Given the description of an element on the screen output the (x, y) to click on. 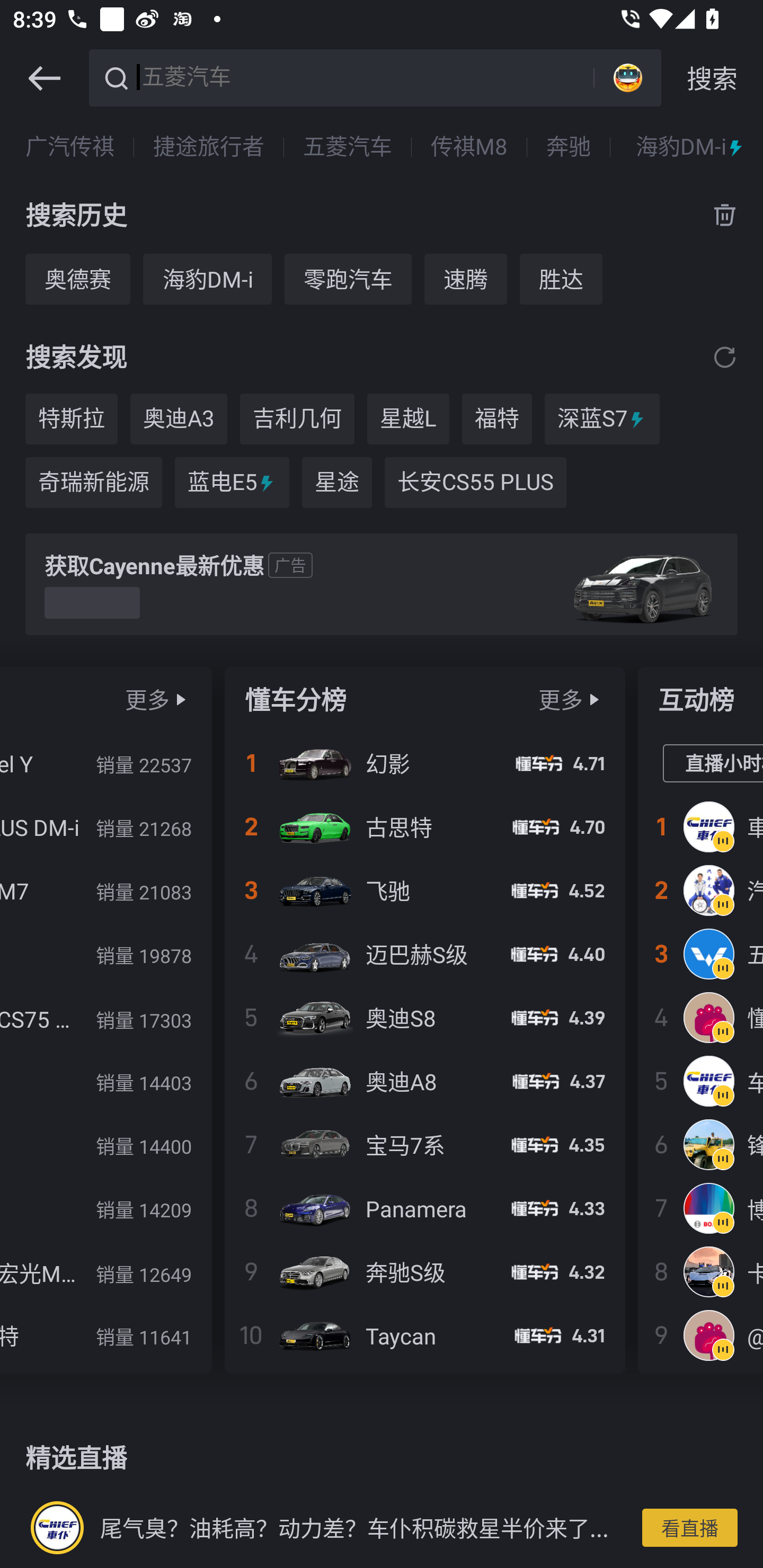
 五菱汽车 (364, 76)
 (44, 78)
搜索 (711, 78)
广汽传祺 (69, 147)
捷途旅行者 (208, 147)
五菱汽车 (347, 147)
传祺M8 (469, 147)
奔驰 (568, 147)
海豹DM-i (690, 147)
奥德赛 (77, 278)
海豹DM-i (206, 278)
零跑汽车 (347, 278)
速腾 (465, 278)
胜达 (560, 278)
 (724, 357)
特斯拉 (71, 418)
奥迪A3 (178, 418)
吉利几何 (297, 418)
星越L (408, 418)
福特 (496, 418)
深蓝S7 (601, 418)
奇瑞新能源 (93, 482)
蓝电E5 (231, 482)
星途 (337, 482)
长安CS55 PLUS (475, 482)
获取Cayenne最新优惠 广告 立享优惠 (381, 584)
更多 (147, 699)
更多 (560, 699)
 (180, 699)
 (593, 699)
Model Y 销量 22537 (105, 763)
幻影 4.71 (424, 763)
直播小时榜 (713, 763)
秦PLUS DM-i 销量 21268 (105, 826)
古思特 4.70 (424, 826)
車仆 (701, 826)
问界M7 销量 21083 (105, 890)
飞驰 4.52 (424, 890)
汽车兄弟直播间 (701, 890)
轩逸 销量 19878 (105, 953)
迈巴赫S级 4.40 (424, 953)
五菱汽车 (701, 953)
长安CS75 PLUS 销量 17303 (105, 1017)
奥迪S8 4.39 (424, 1017)
懂车帝在线选车 (701, 1017)
海鸥 销量 14403 (105, 1080)
奥迪A8 4.37 (424, 1080)
车仆汽车美容旗舰店 (701, 1080)
朗逸 销量 14400 (105, 1144)
宝马7系 4.35 (424, 1144)
锋哥說车 (701, 1144)
速腾 销量 14209 (105, 1208)
Panamera 4.33 (424, 1208)
博世汽车配件旗舰店 (701, 1208)
五菱宏光MINIEV 销量 12649 (105, 1271)
奔驰S级 4.32 (424, 1271)
卡贝尔汽车用品旗舰店 (701, 1271)
帕萨特 销量 11641 (105, 1335)
Taycan 4.31 (424, 1335)
@@ (701, 1335)
尾气臭？油耗高？动力差？车仆积碳救星半价来了... 看直播 (381, 1526)
